Given the description of an element on the screen output the (x, y) to click on. 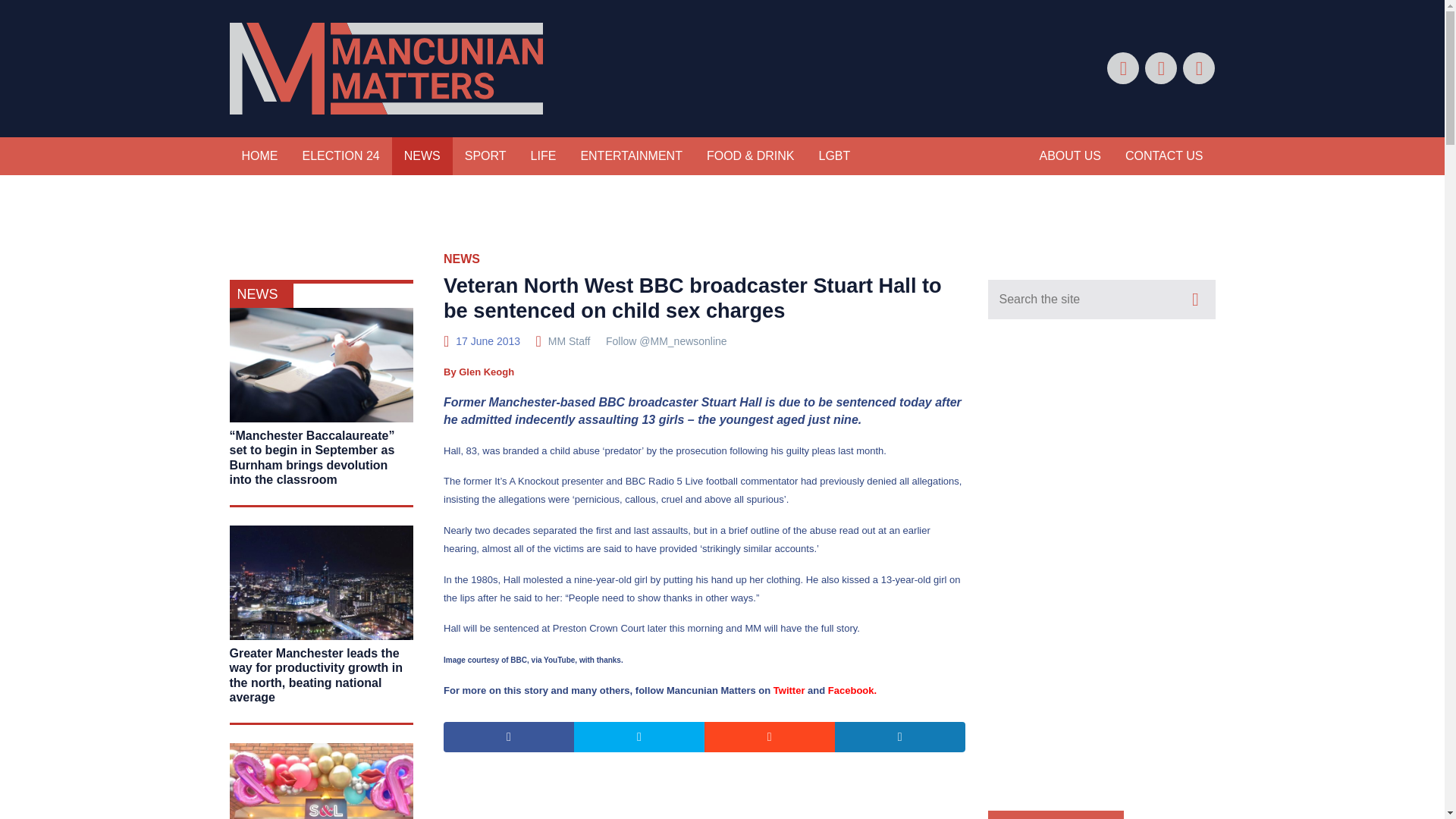
About us (1069, 156)
3rd party ad content (722, 227)
Home (258, 156)
MM Staff (569, 340)
LIFE (543, 156)
NEWS (260, 294)
YoutTube (1198, 68)
Election 24 (340, 156)
Facebook (1122, 68)
Life (543, 156)
HOME (258, 156)
Facebook (851, 690)
ELECTION 24 (340, 156)
NEWS (462, 258)
News (421, 156)
